Given the description of an element on the screen output the (x, y) to click on. 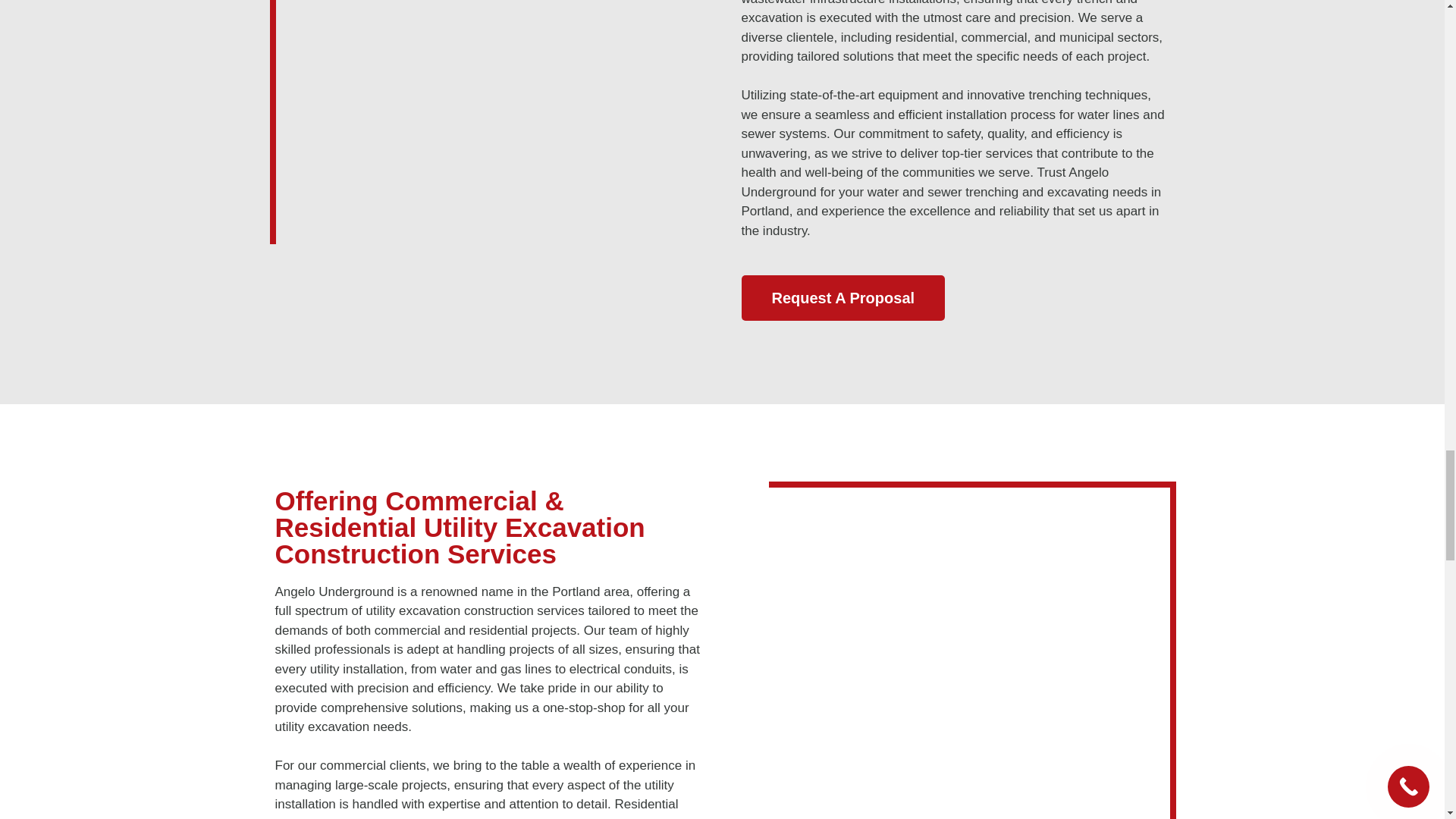
Request A Proposal (842, 297)
